Given the description of an element on the screen output the (x, y) to click on. 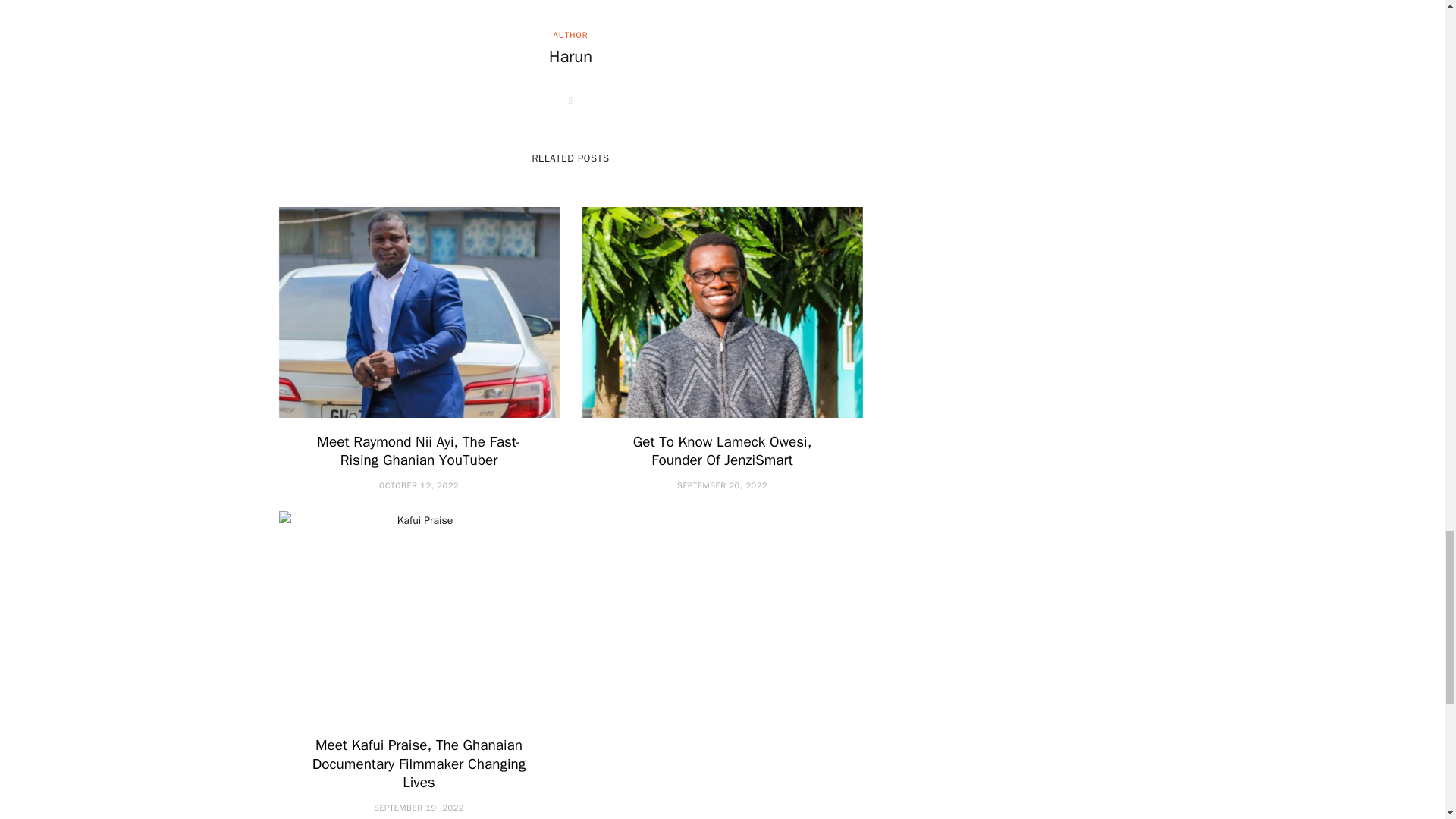
Harun (570, 56)
Meet Raymond Nii Ayi, The Fast-Rising Ghanian YouTuber (418, 451)
OCTOBER 12, 2022 (418, 484)
